Given the description of an element on the screen output the (x, y) to click on. 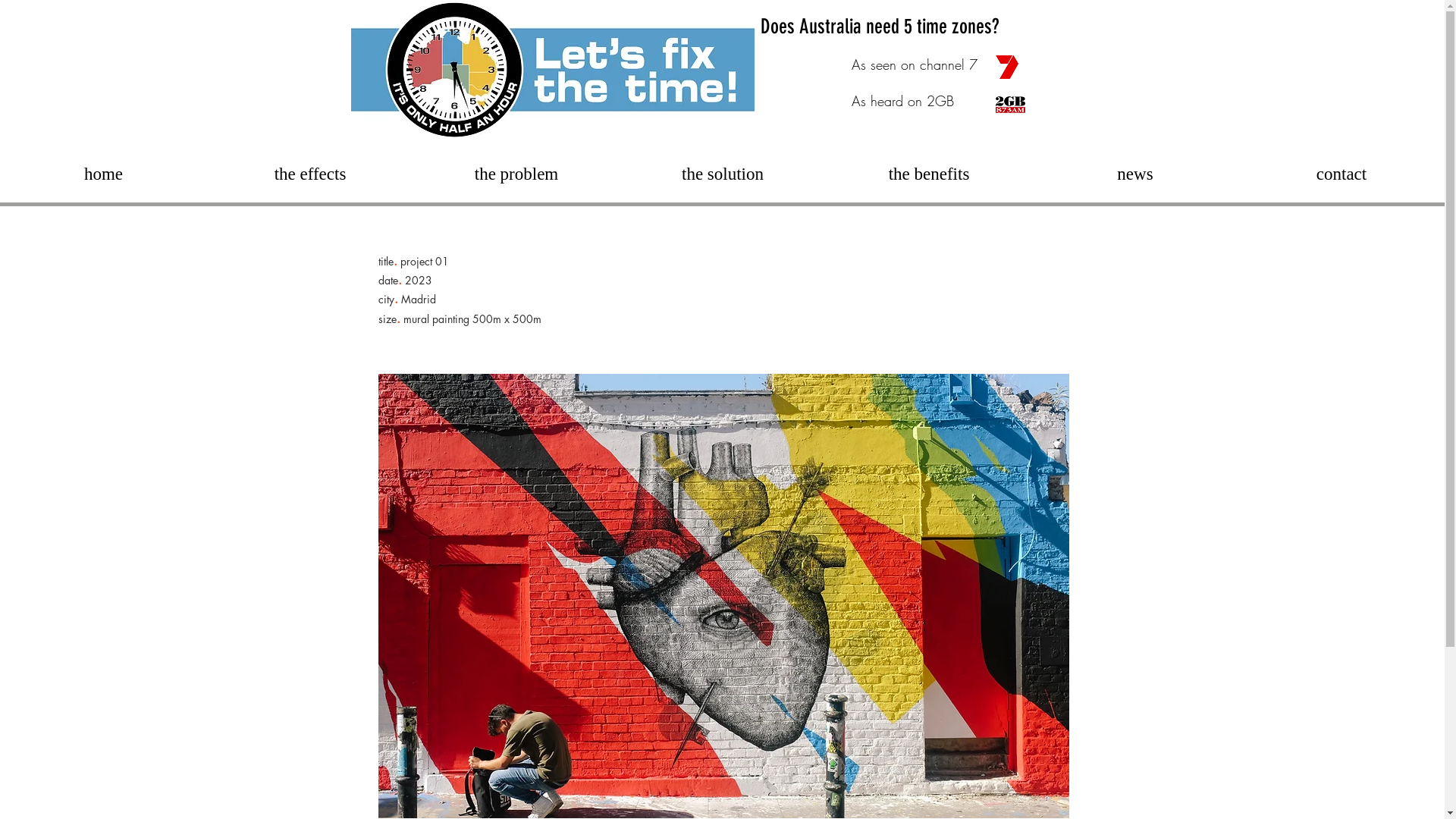
contact Element type: text (1341, 173)
the benefits Element type: text (928, 173)
the problem Element type: text (516, 173)
news Element type: text (1135, 173)
home Element type: text (103, 173)
the effects Element type: text (310, 173)
the solution Element type: text (722, 173)
